Given the description of an element on the screen output the (x, y) to click on. 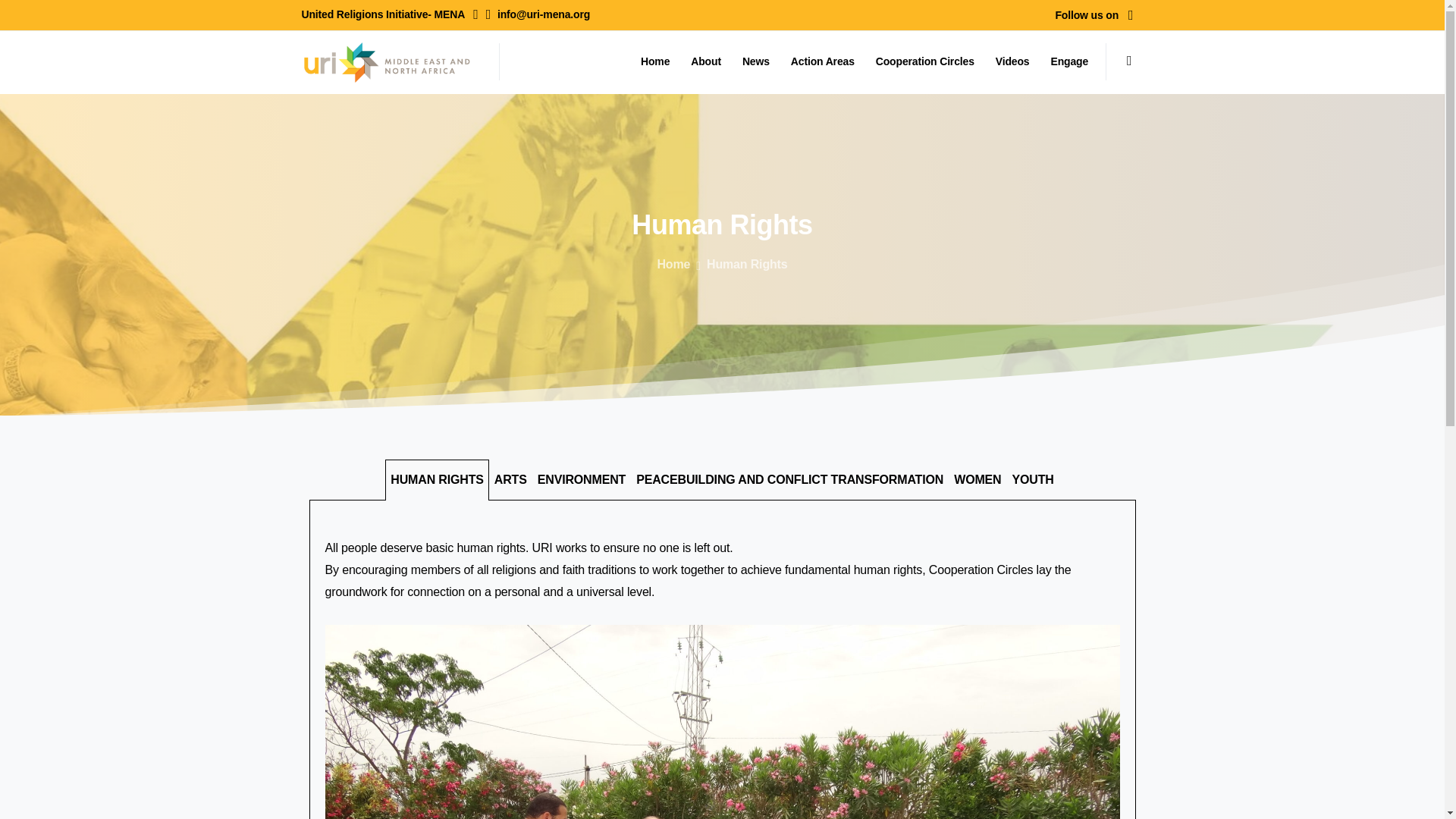
About (702, 61)
Engage (1065, 61)
Home (651, 61)
Cooperation Circles (921, 61)
Home (651, 61)
Cooperation Circles (921, 61)
News (753, 61)
United Religions Initiative- MENA (390, 15)
Facebook (1130, 15)
News (753, 61)
Videos (1009, 61)
About (702, 61)
Action Areas (819, 61)
Home (673, 264)
Action Areas (819, 61)
